Given the description of an element on the screen output the (x, y) to click on. 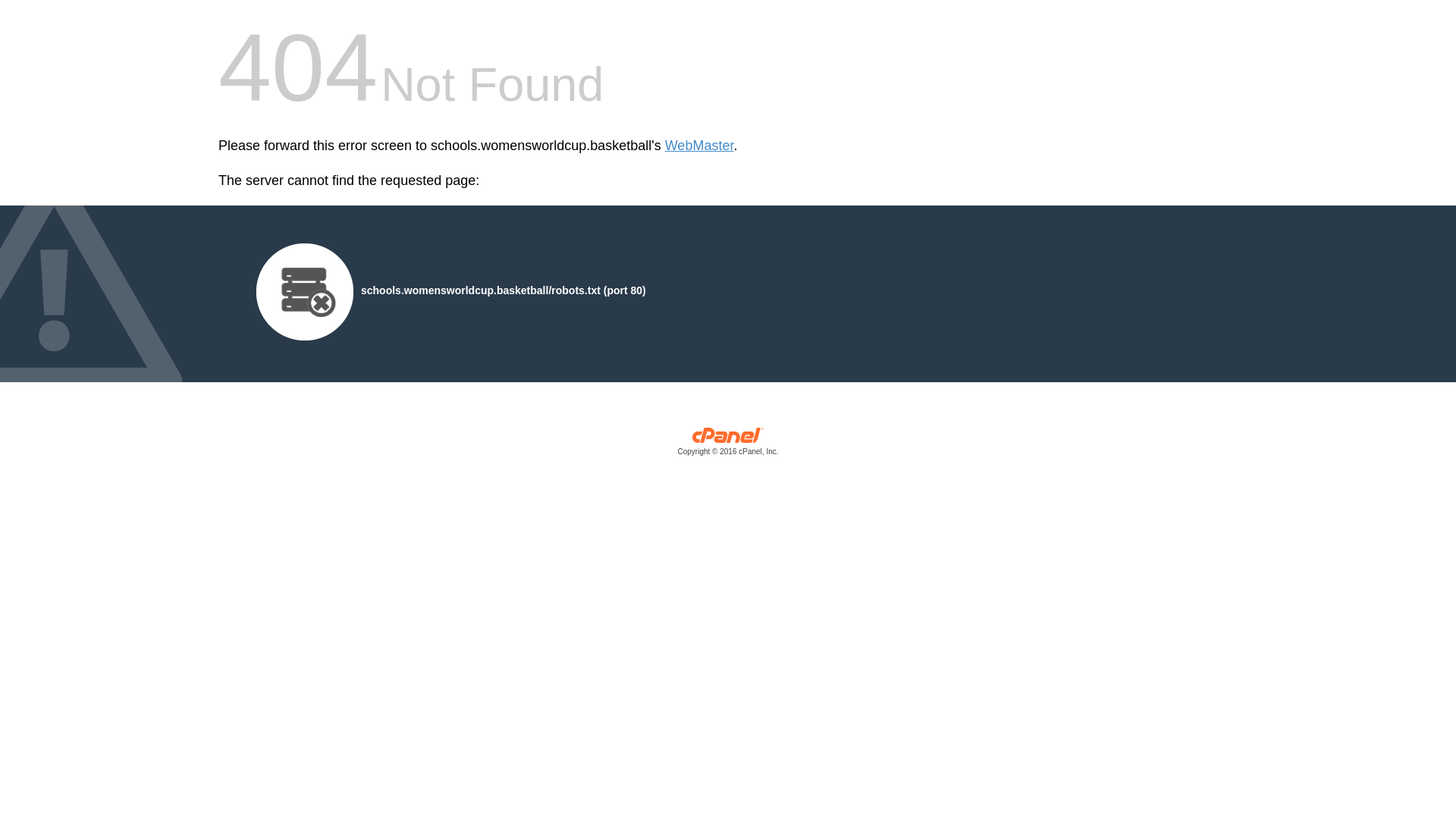
WebMaster Element type: text (699, 145)
